Given the description of an element on the screen output the (x, y) to click on. 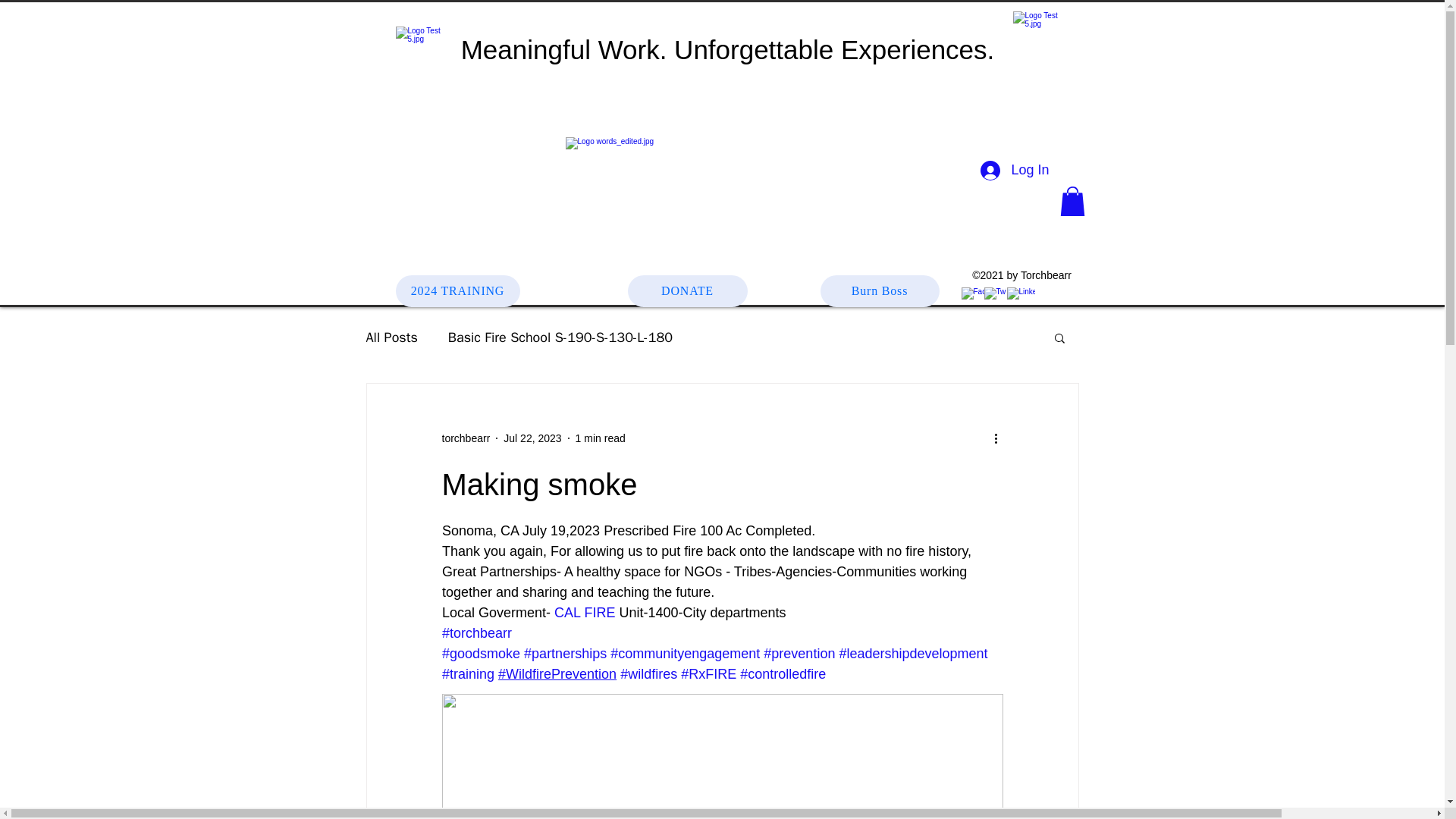
1 min read (600, 438)
Jul 22, 2023 (531, 438)
Log In (1014, 170)
torchbearr (465, 438)
